Given the description of an element on the screen output the (x, y) to click on. 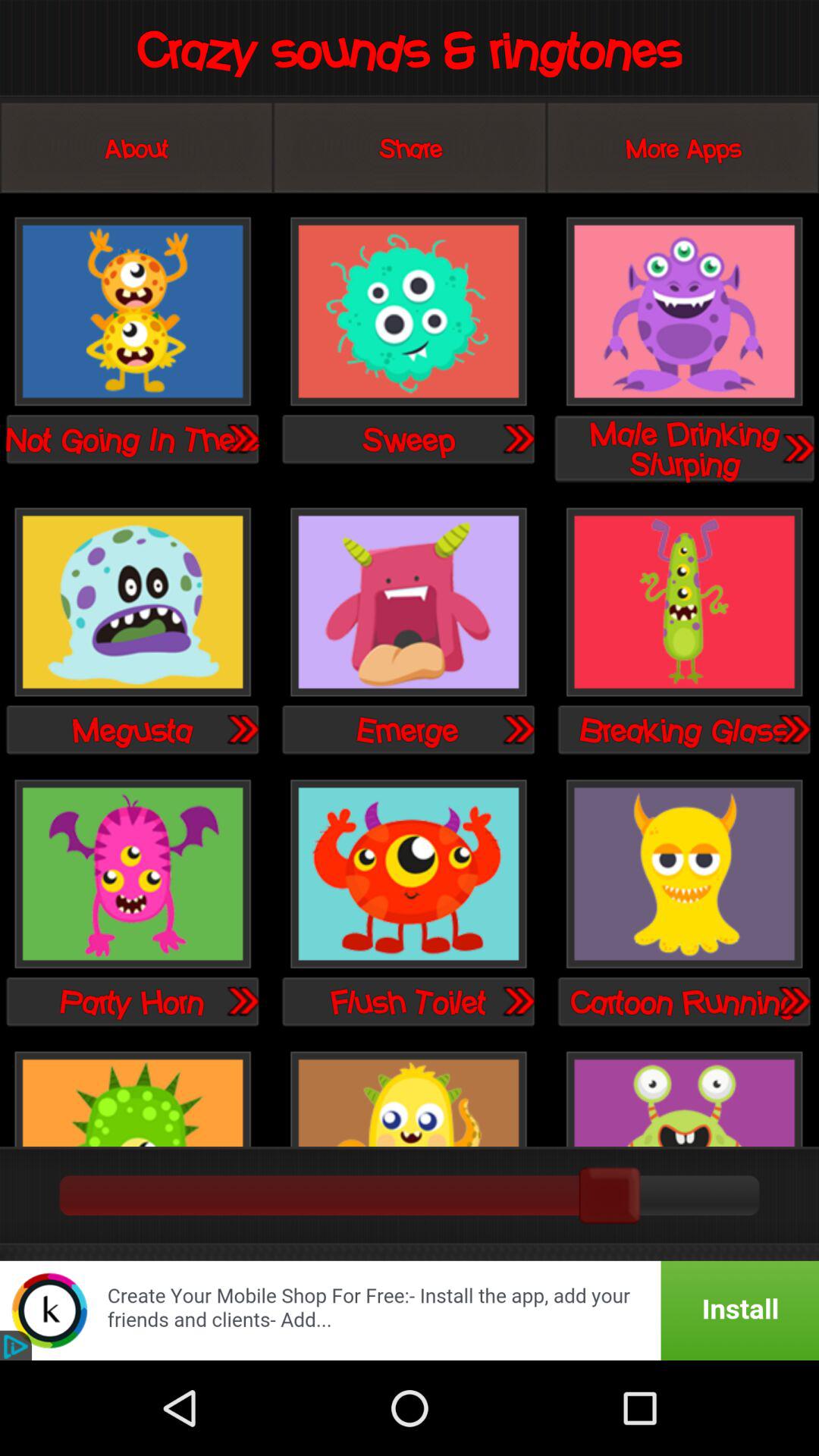
sweep sound (408, 312)
